Given the description of an element on the screen output the (x, y) to click on. 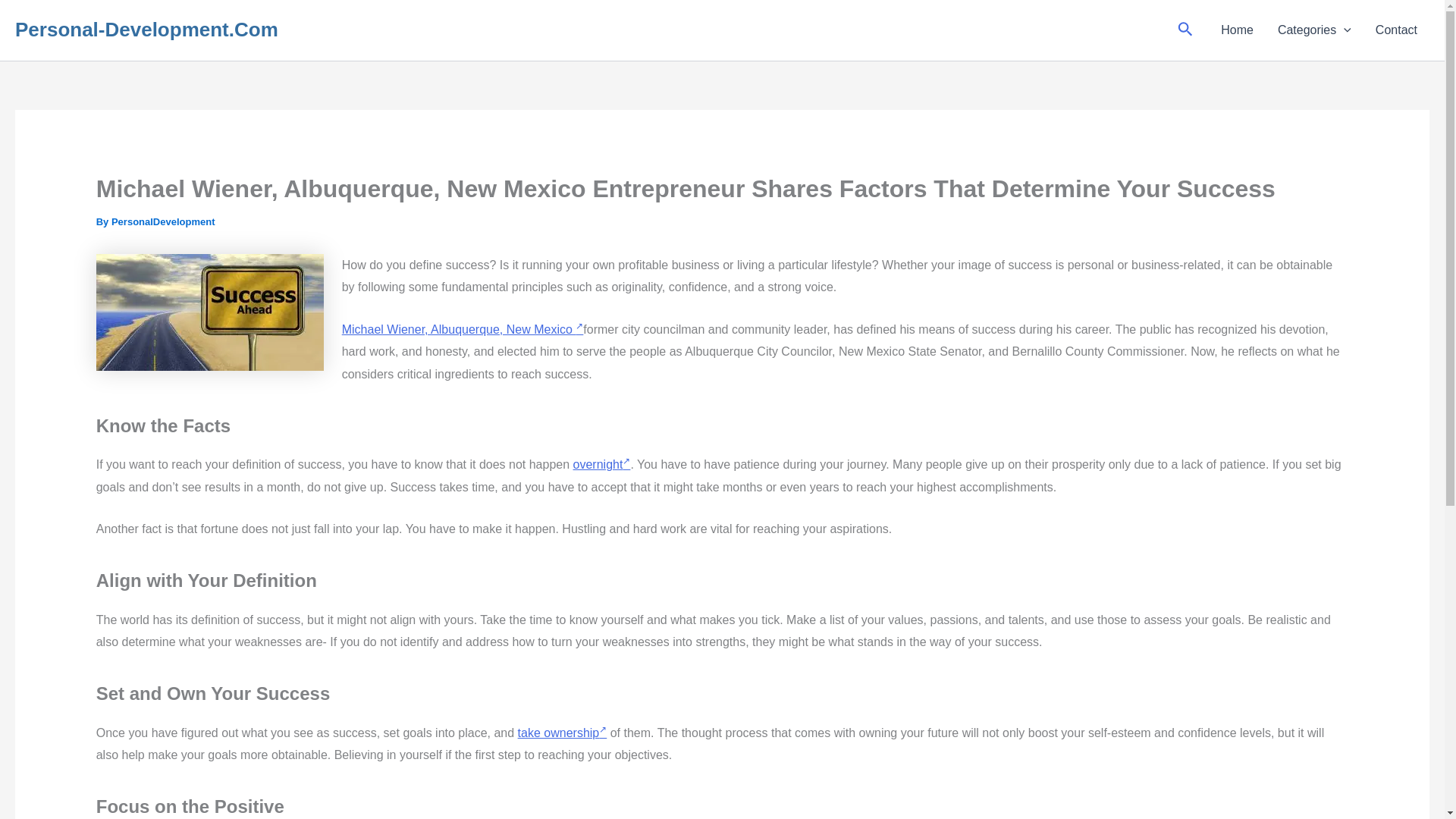
Personal-Development.Com (146, 29)
Contact (1395, 30)
Home (1236, 30)
Categories (1313, 30)
View all posts by PersonalDevelopment (163, 221)
